Given the description of an element on the screen output the (x, y) to click on. 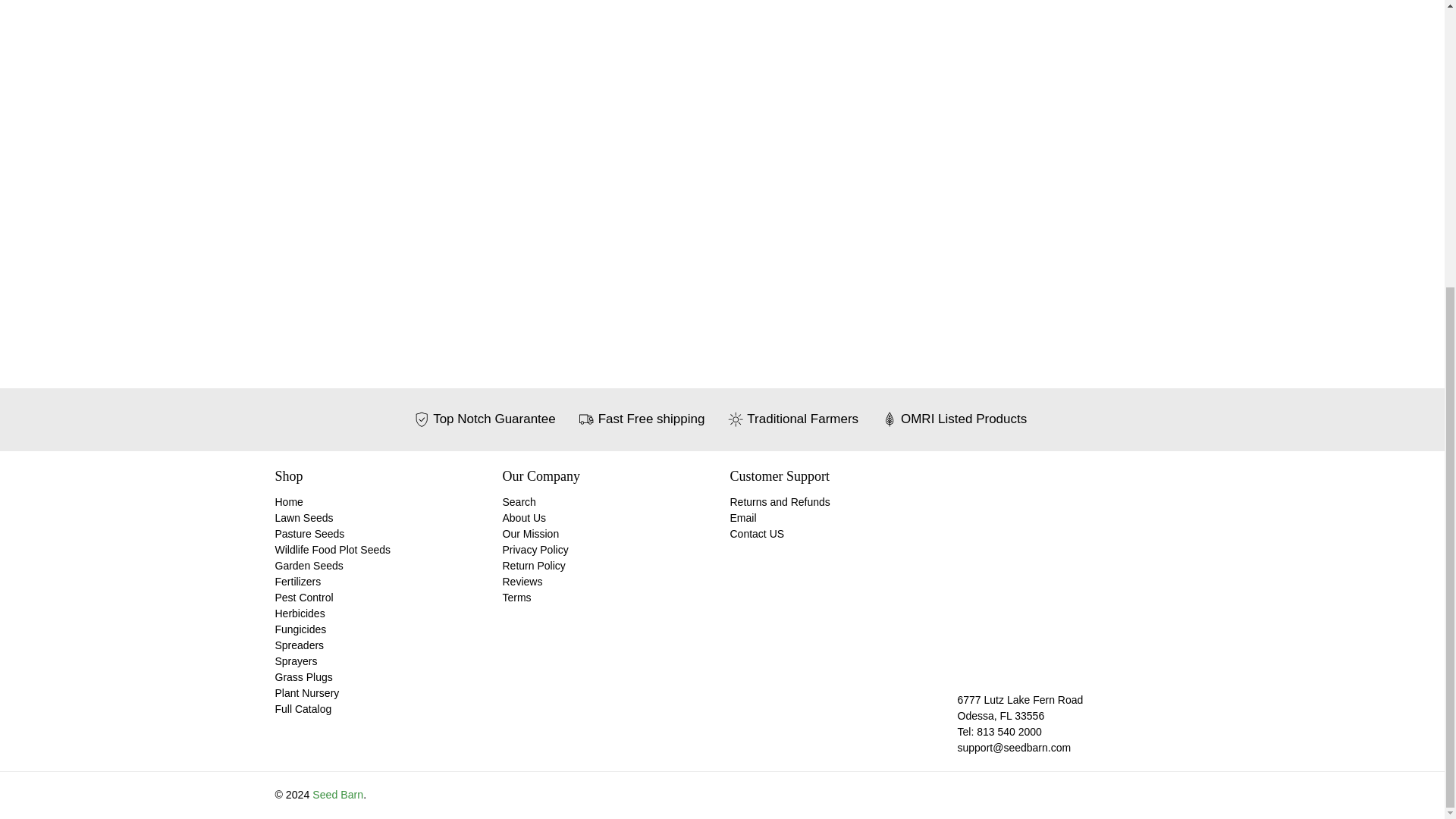
tel:813 540 2000 (1009, 731)
